Given the description of an element on the screen output the (x, y) to click on. 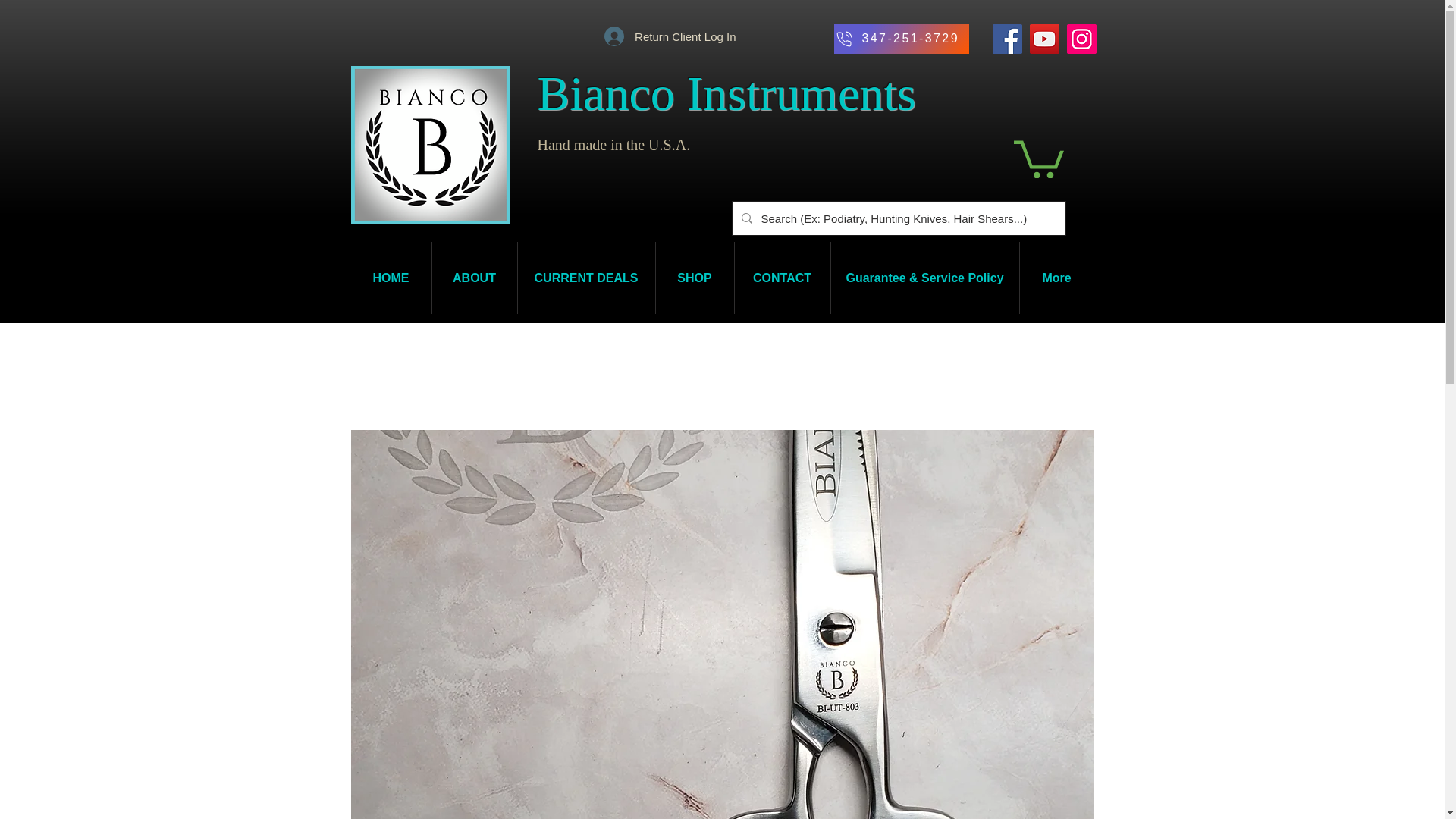
CONTACT (781, 277)
Return Client Log In (669, 36)
SHOP (694, 277)
HOME (390, 277)
ABOUT (474, 277)
347-251-3729 (901, 38)
  B (540, 93)
CURRENT DEALS (584, 277)
